Given the description of an element on the screen output the (x, y) to click on. 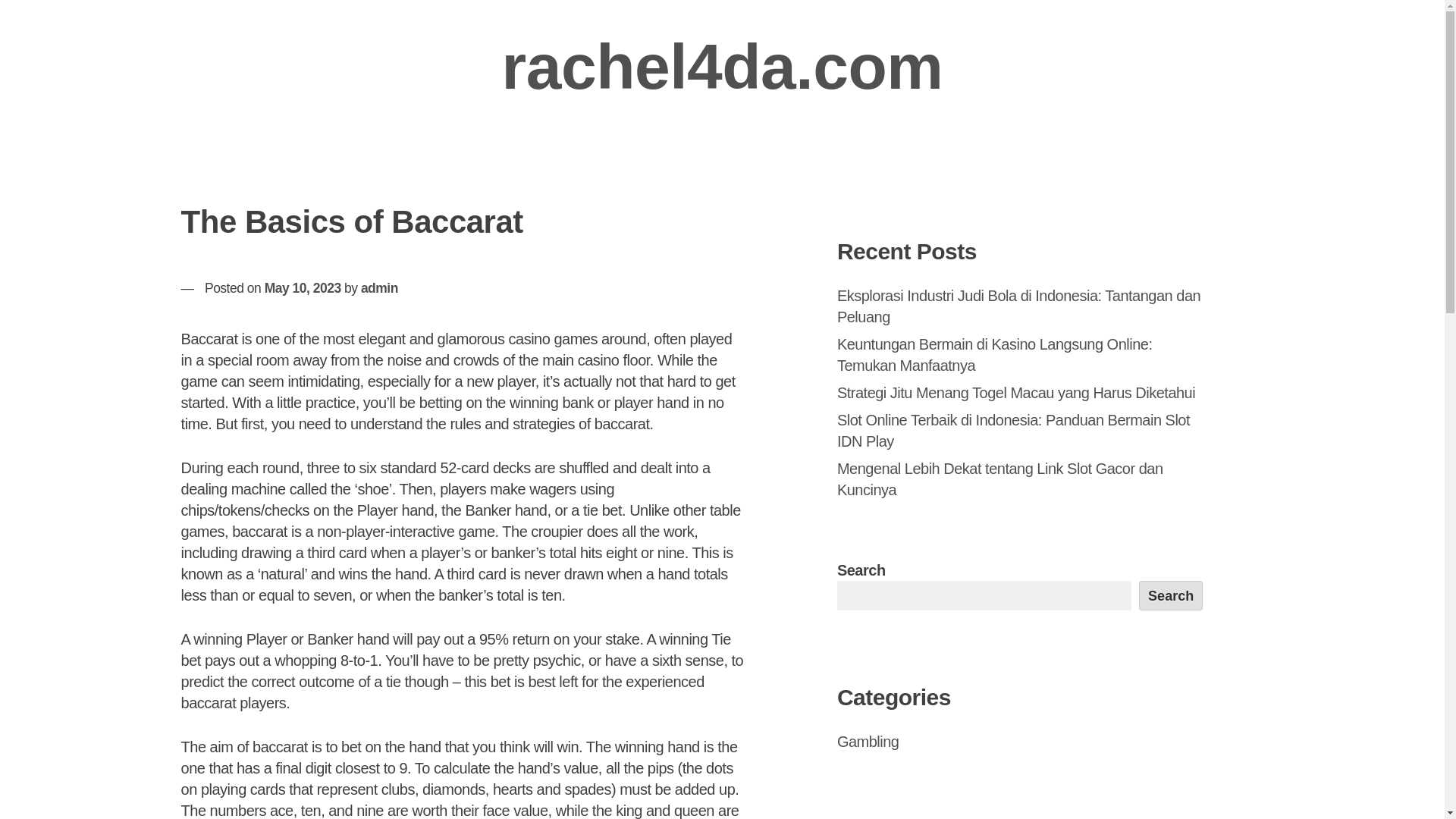
May 10, 2023 (302, 287)
Gambling (868, 741)
Strategi Jitu Menang Togel Macau yang Harus Diketahui (1016, 392)
Mengenal Lebih Dekat tentang Link Slot Gacor dan Kuncinya (1000, 478)
rachel4da.com (722, 66)
admin (379, 287)
Search (1171, 594)
